Given the description of an element on the screen output the (x, y) to click on. 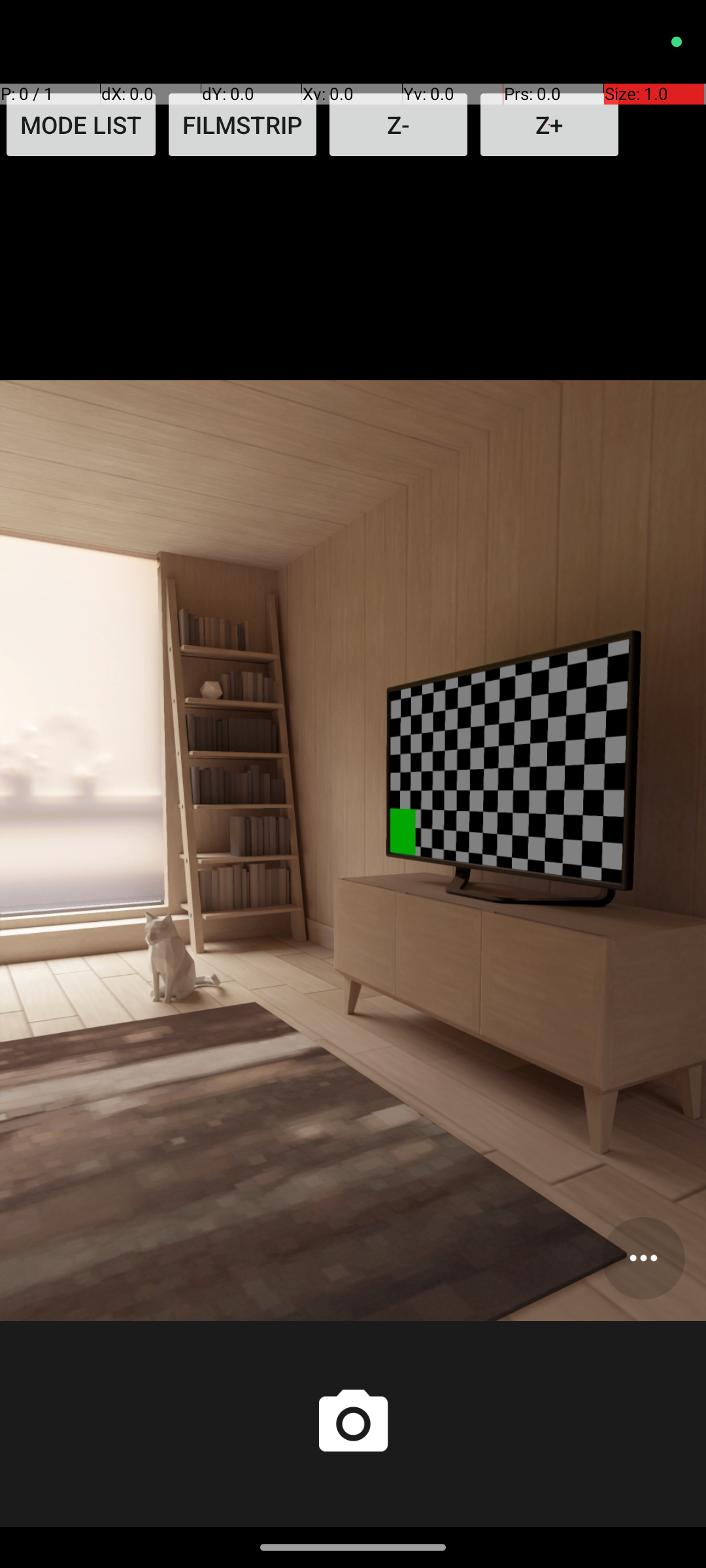
Options Element type: android.widget.LinearLayout (643, 1258)
